Given the description of an element on the screen output the (x, y) to click on. 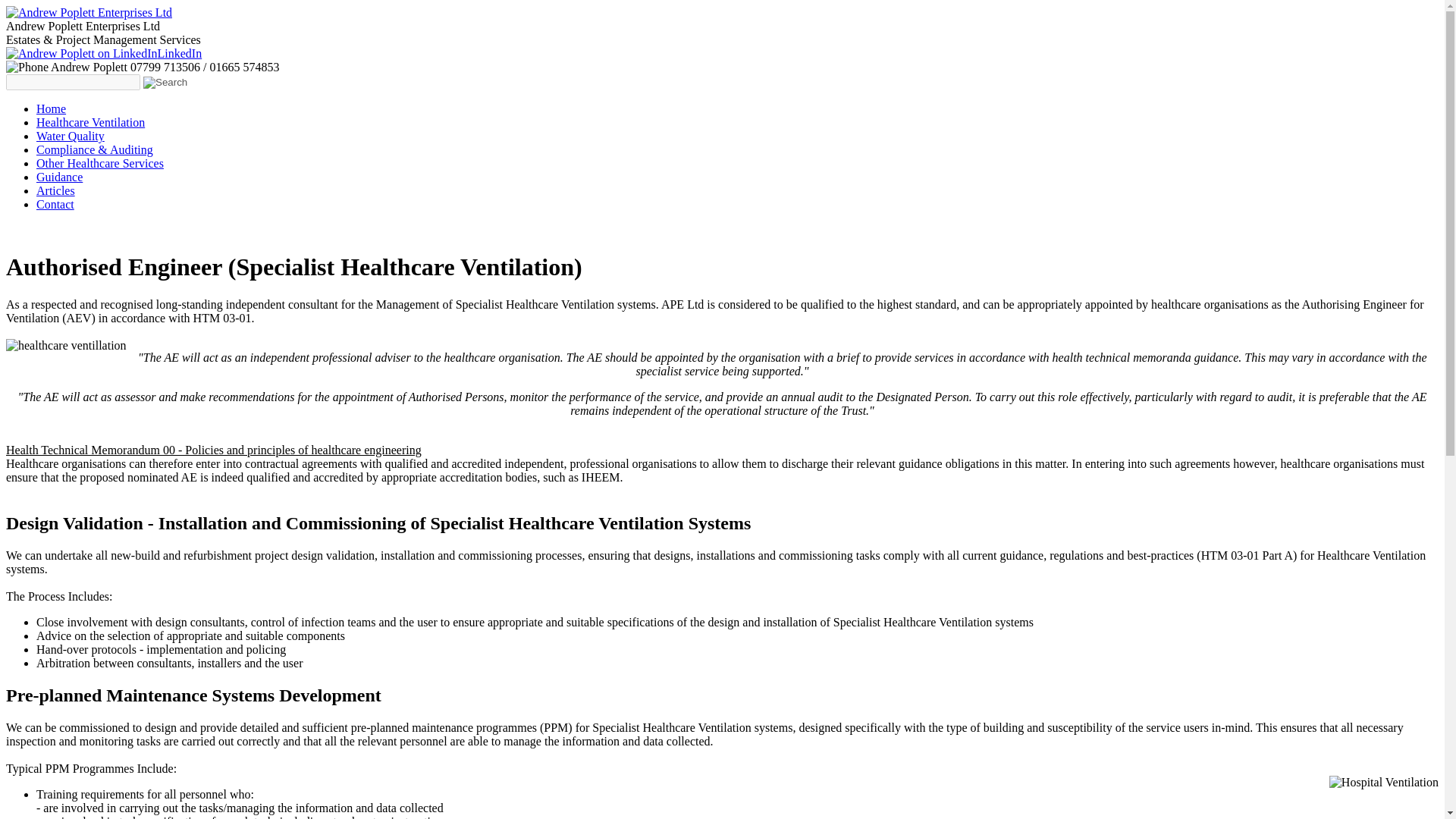
LinkedIn (103, 52)
Contact (55, 204)
Home (50, 108)
Healthcare Ventilation (90, 122)
Guidance (59, 176)
Articles (55, 190)
Other Healthcare Services (99, 163)
Water Quality (70, 135)
